Given the description of an element on the screen output the (x, y) to click on. 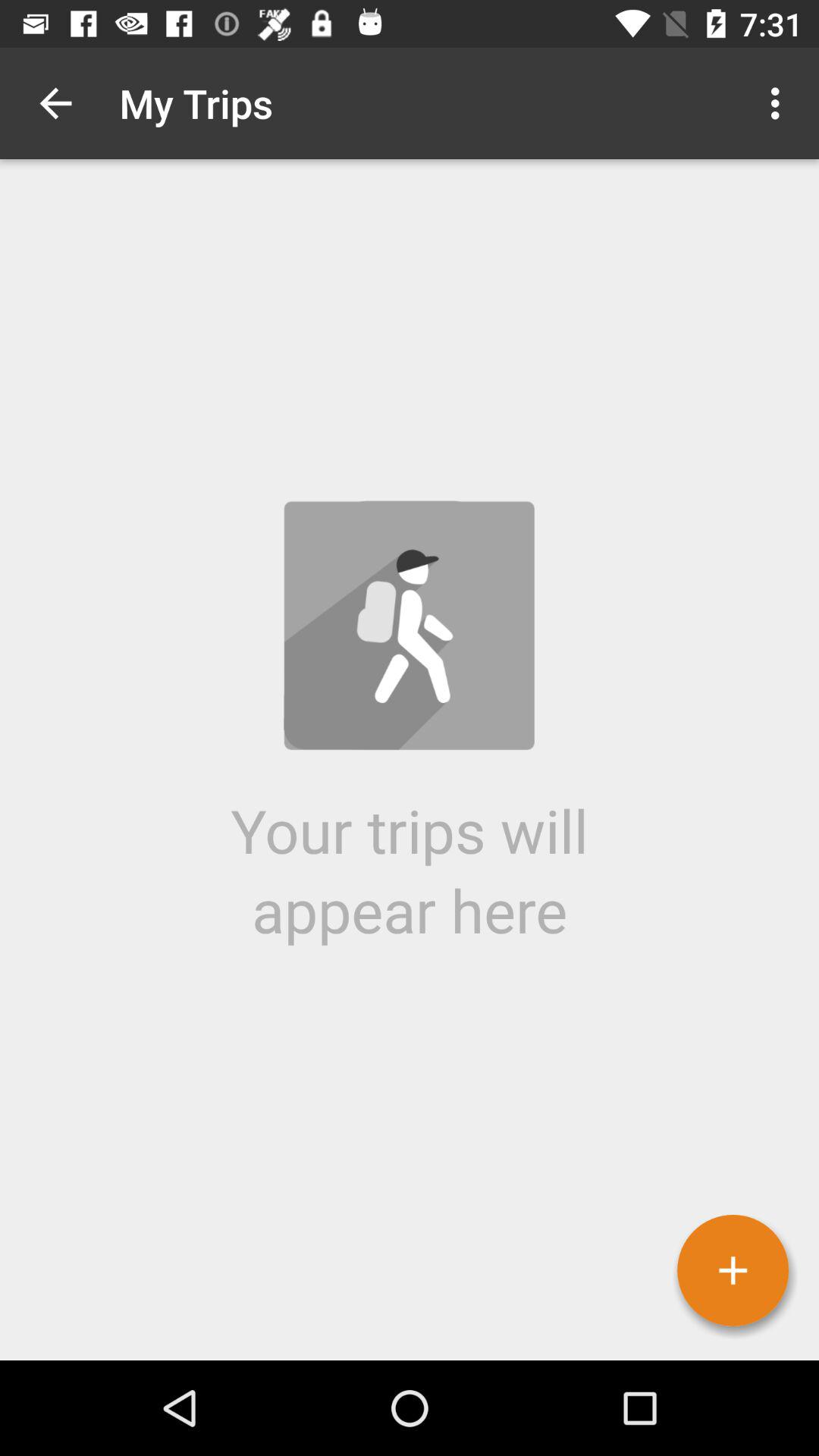
tap the icon above your trips will icon (55, 103)
